Given the description of an element on the screen output the (x, y) to click on. 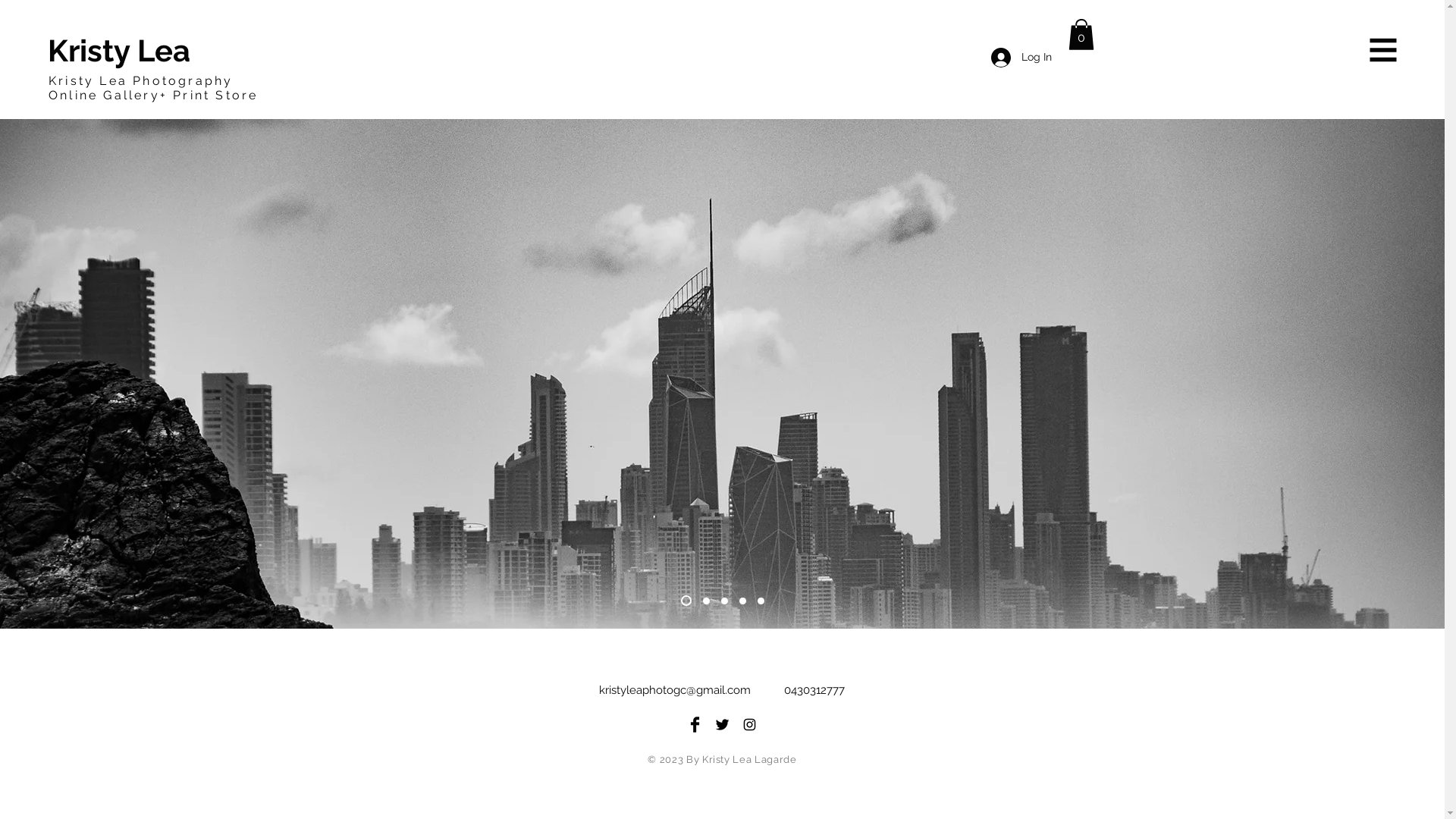
Log In Element type: text (1020, 57)
kristyleaphotogc@gmail.com Element type: text (674, 689)
Kristy Lea Element type: text (118, 50)
0 Element type: text (1080, 34)
